Given the description of an element on the screen output the (x, y) to click on. 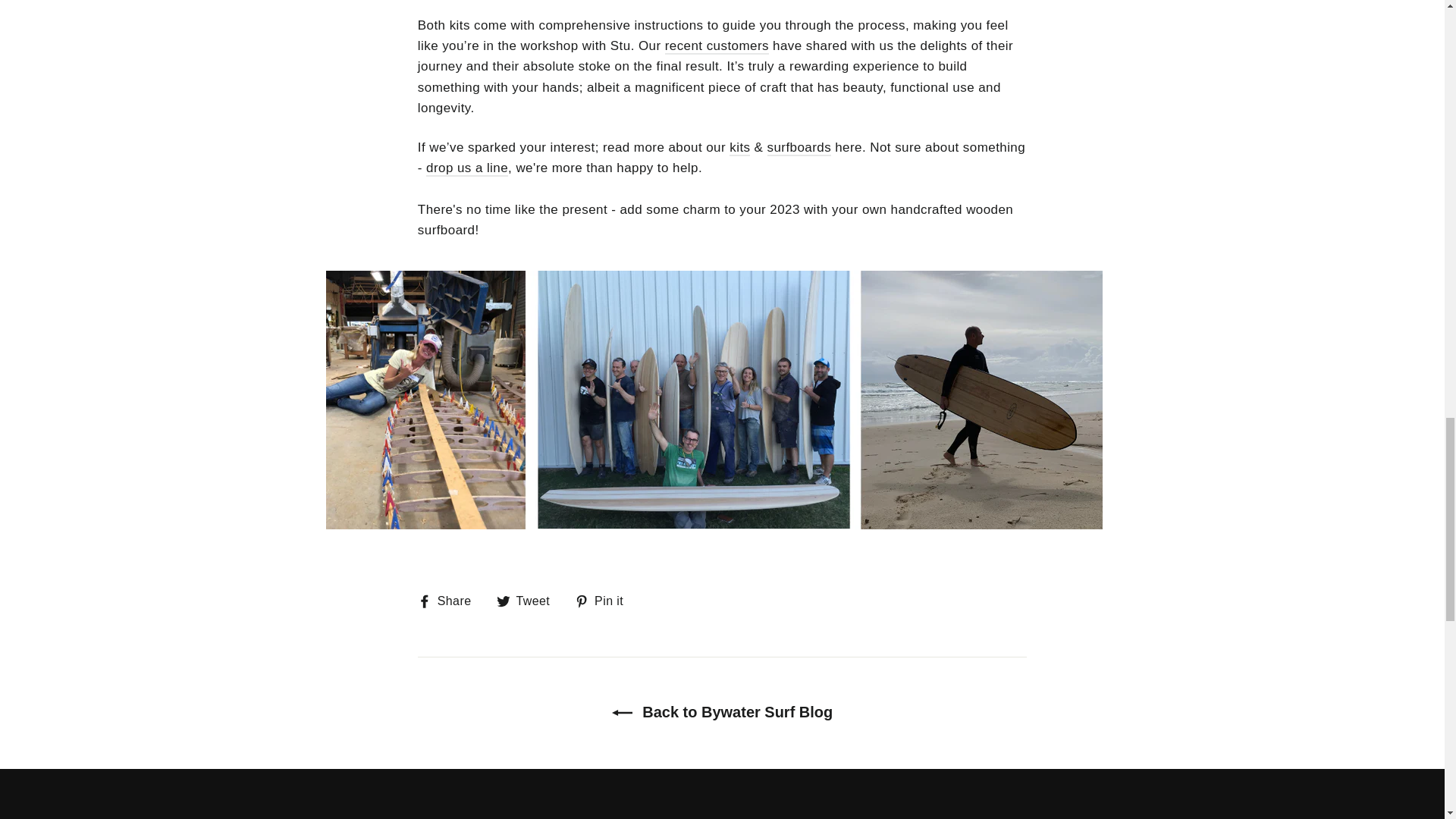
Tweet on Twitter (529, 600)
Pin on Pinterest (604, 600)
Share on Facebook (450, 600)
